Given the description of an element on the screen output the (x, y) to click on. 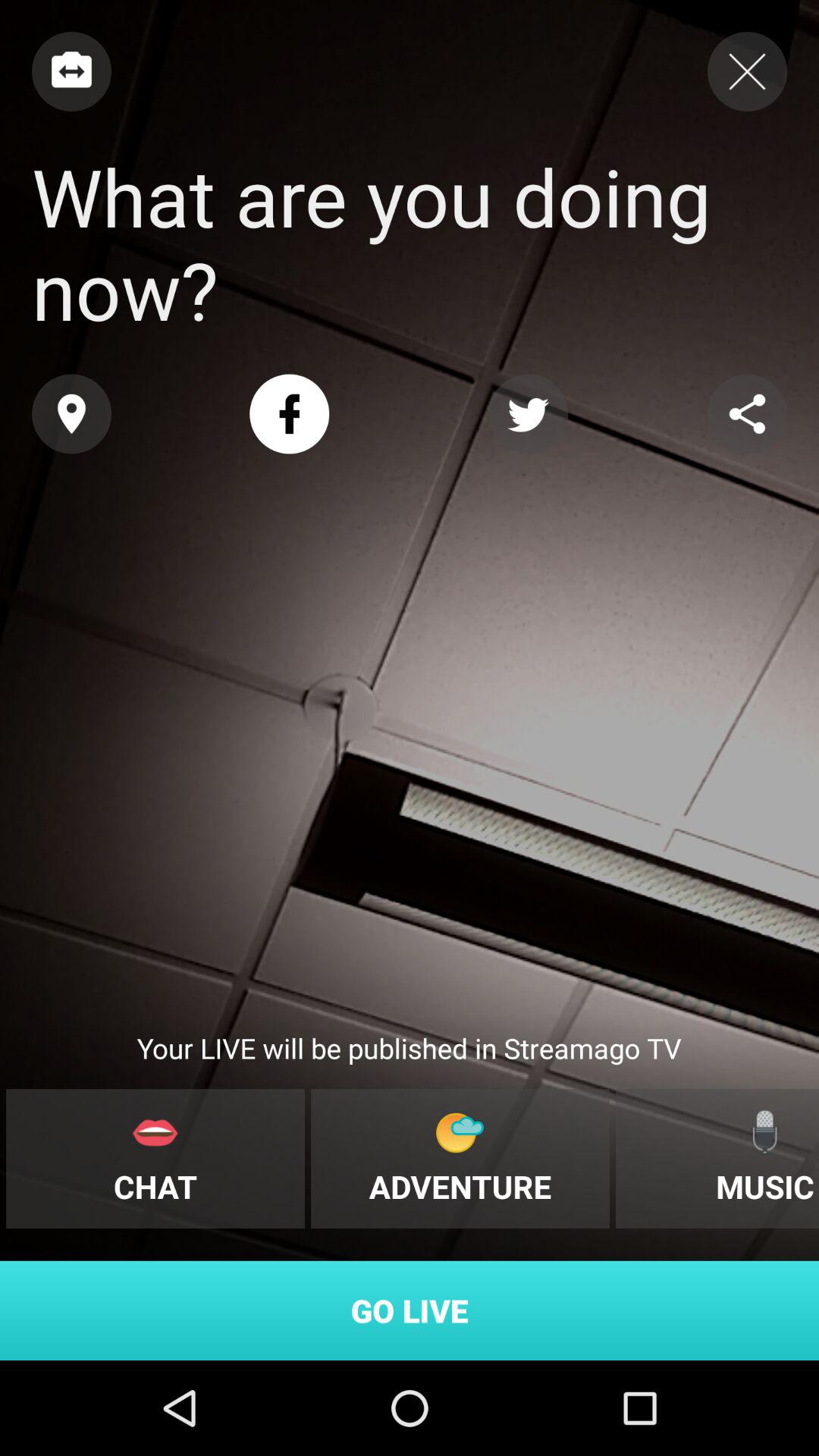
close screen (747, 71)
